Given the description of an element on the screen output the (x, y) to click on. 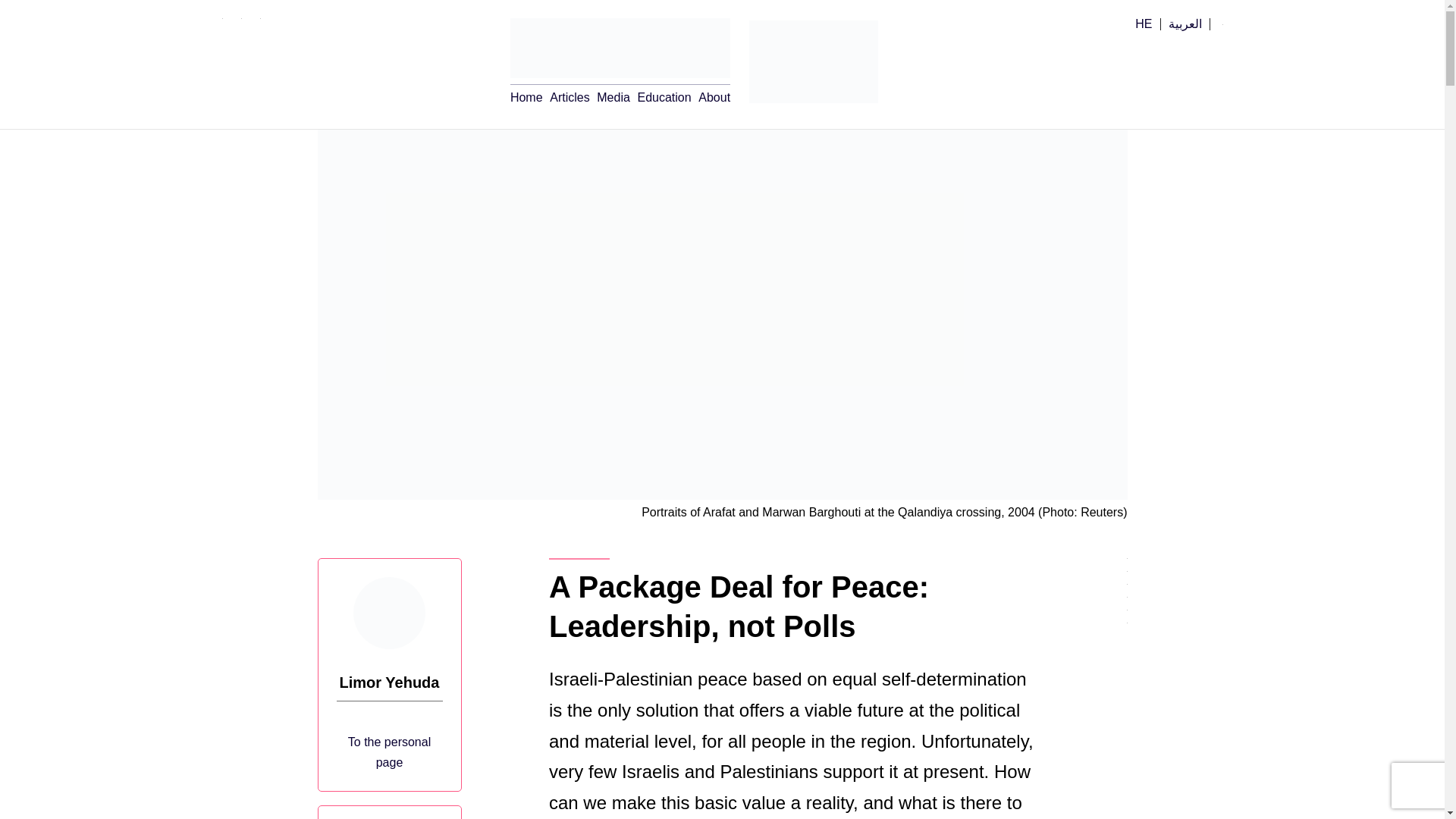
HE (1143, 24)
HE (1143, 24)
Media (613, 97)
About (714, 97)
Education (663, 97)
Home (527, 97)
Articles (569, 97)
